Given the description of an element on the screen output the (x, y) to click on. 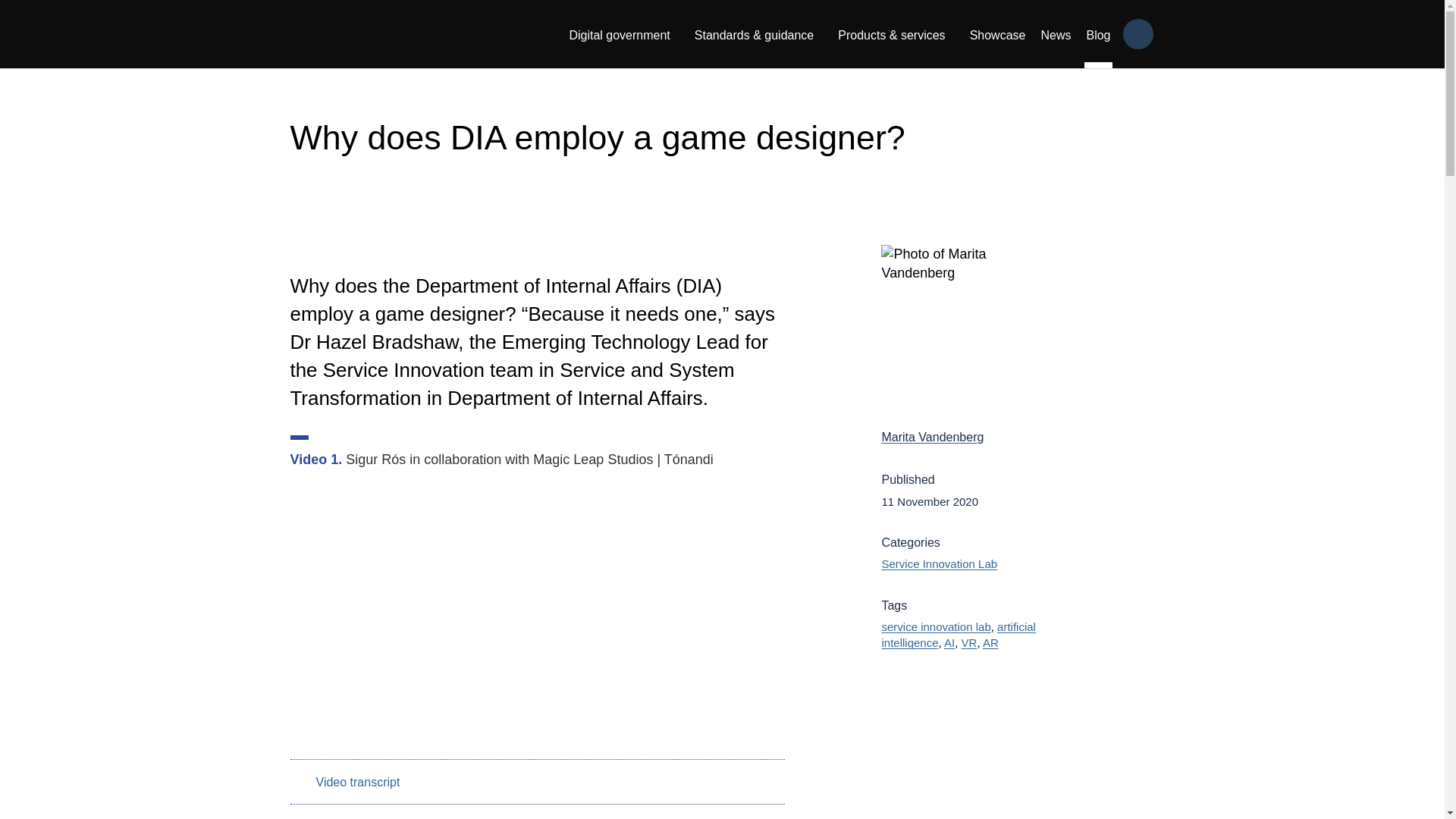
Digital government (619, 33)
artificial intelligence (957, 634)
Service Innovation Lab (938, 563)
service innovation lab (935, 626)
VR (968, 642)
AR (990, 642)
